Given the description of an element on the screen output the (x, y) to click on. 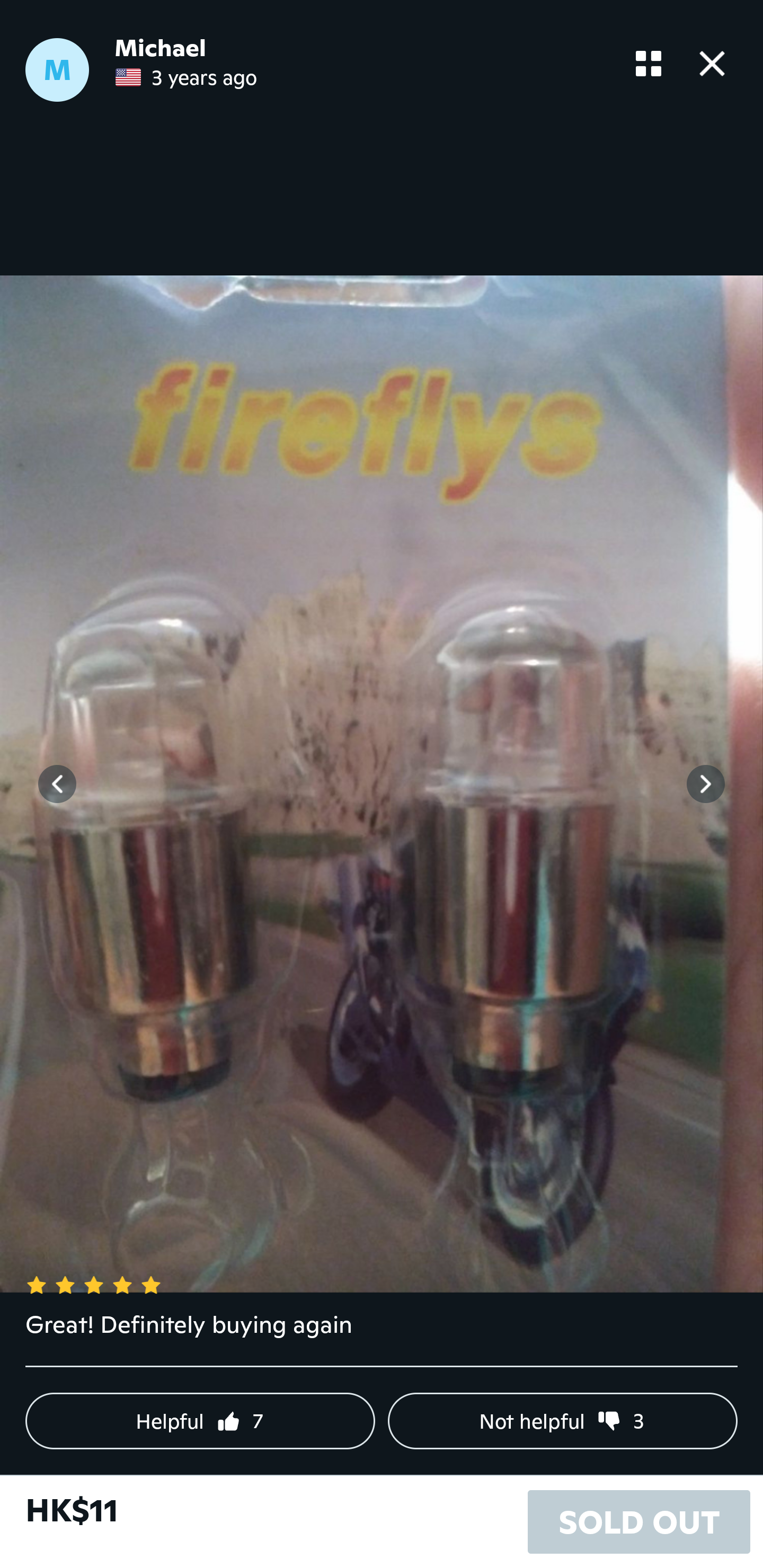
Michael (160, 47)
M (57, 69)
3 years ago (185, 77)
Great! Definitely buying again (381, 1336)
Helpful 7 (200, 1420)
Not helpful 3 (562, 1420)
